Given the description of an element on the screen output the (x, y) to click on. 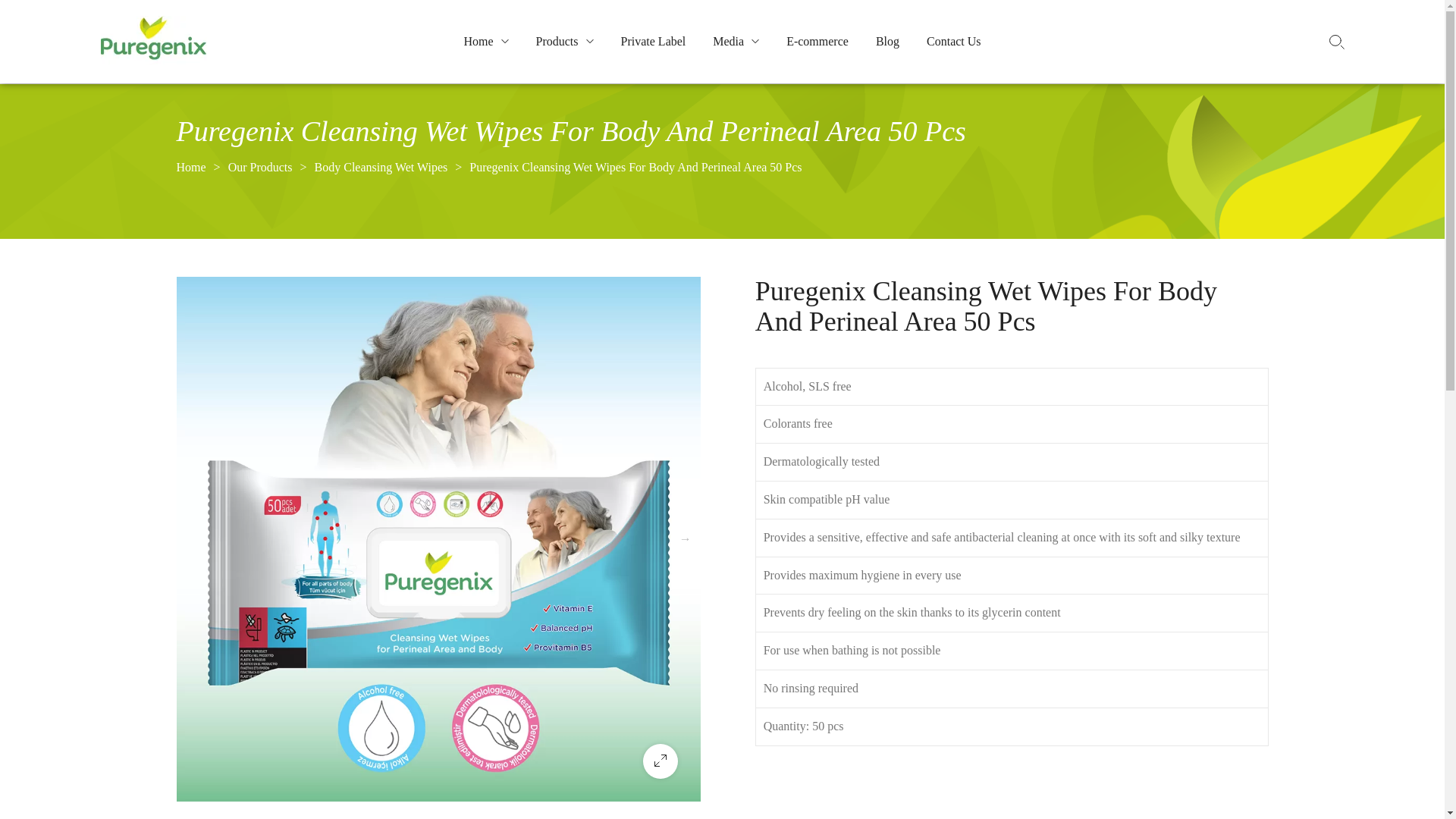
Home (190, 168)
Our Products (260, 168)
Body Cleansing Wet Wipes (381, 168)
Products (564, 41)
Private Label (653, 41)
Home (485, 41)
